Given the description of an element on the screen output the (x, y) to click on. 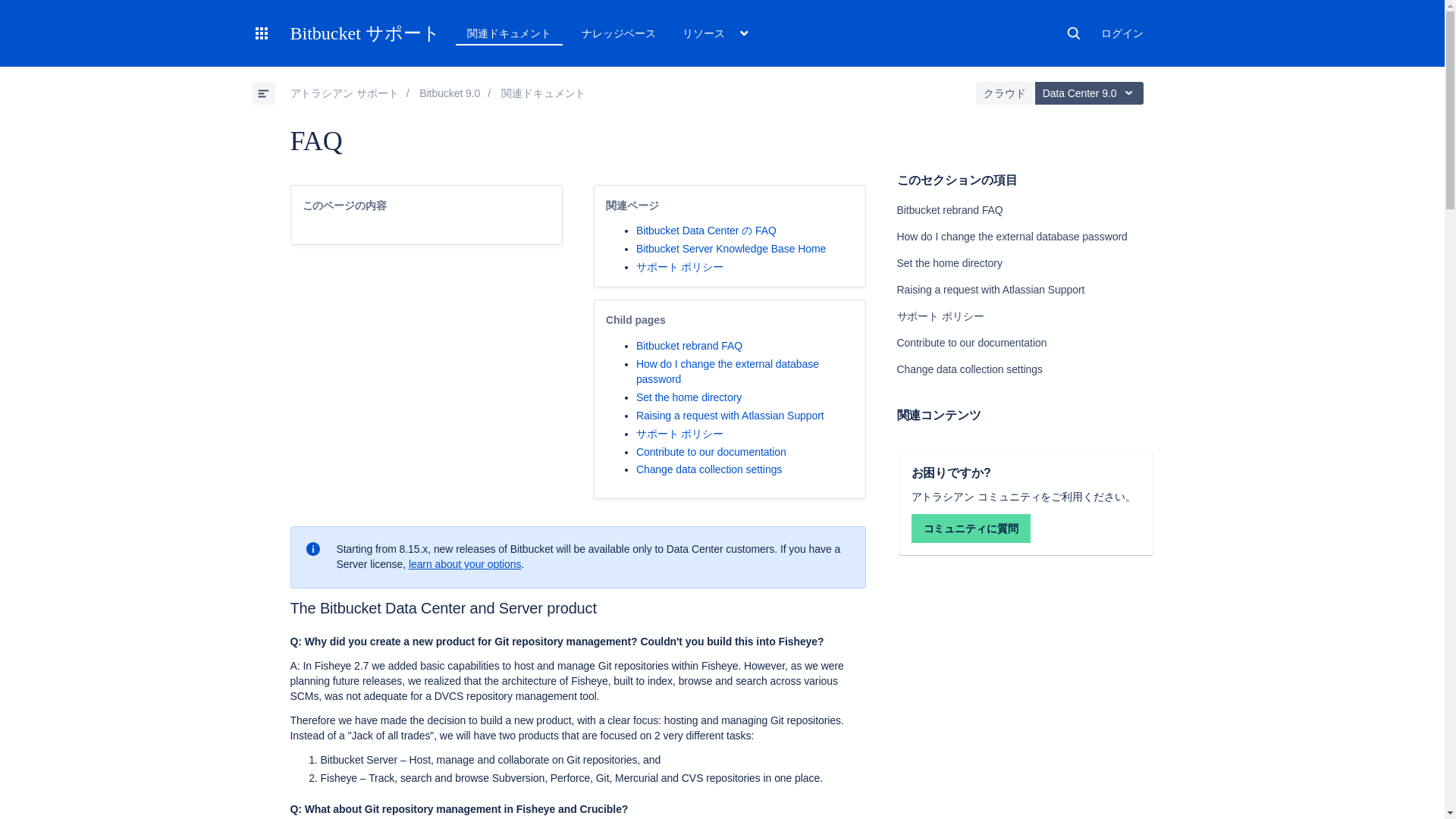
Bitbucket (449, 92)
